Given the description of an element on the screen output the (x, y) to click on. 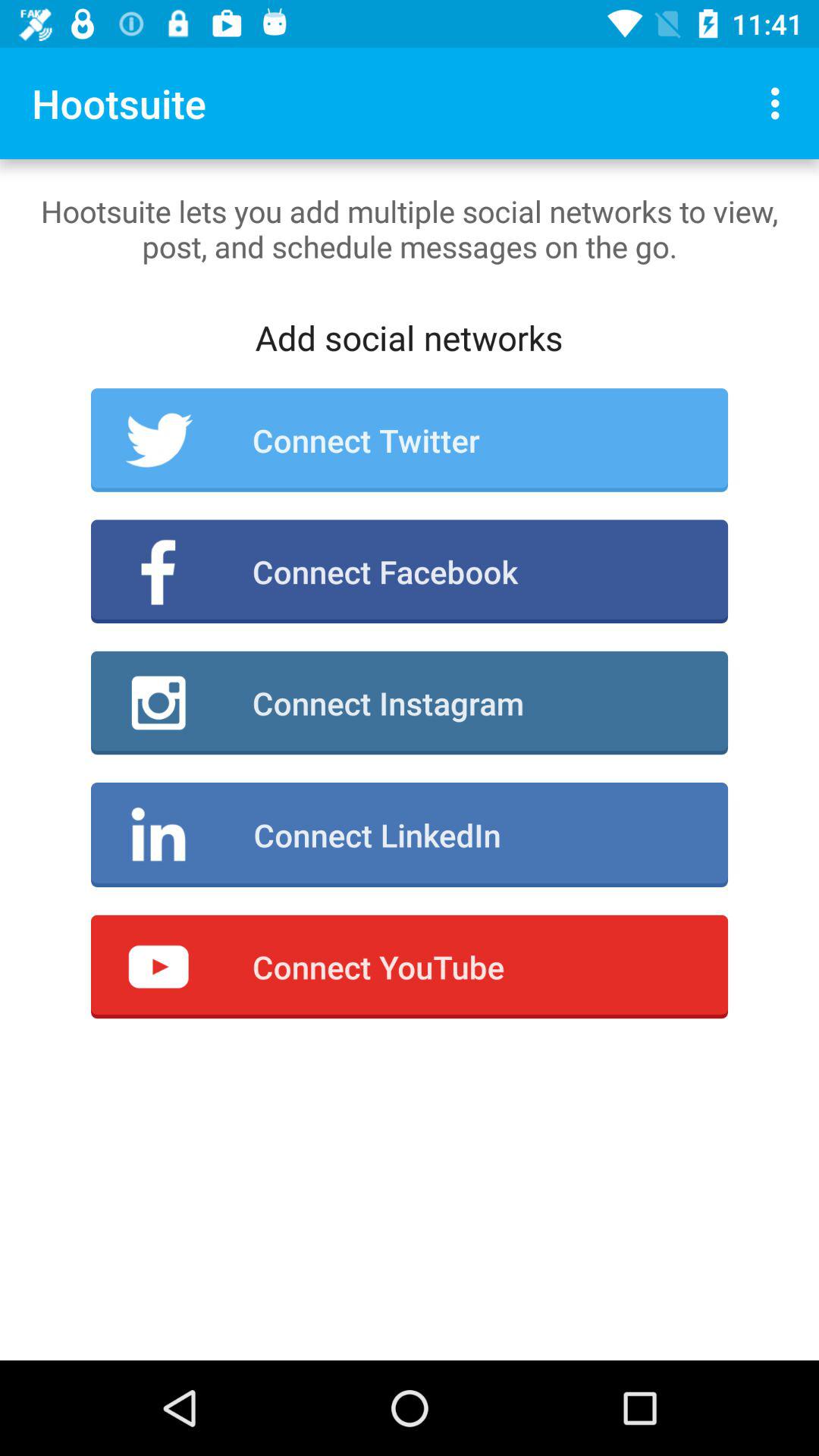
press the icon to the right of the hootsuite app (779, 103)
